Given the description of an element on the screen output the (x, y) to click on. 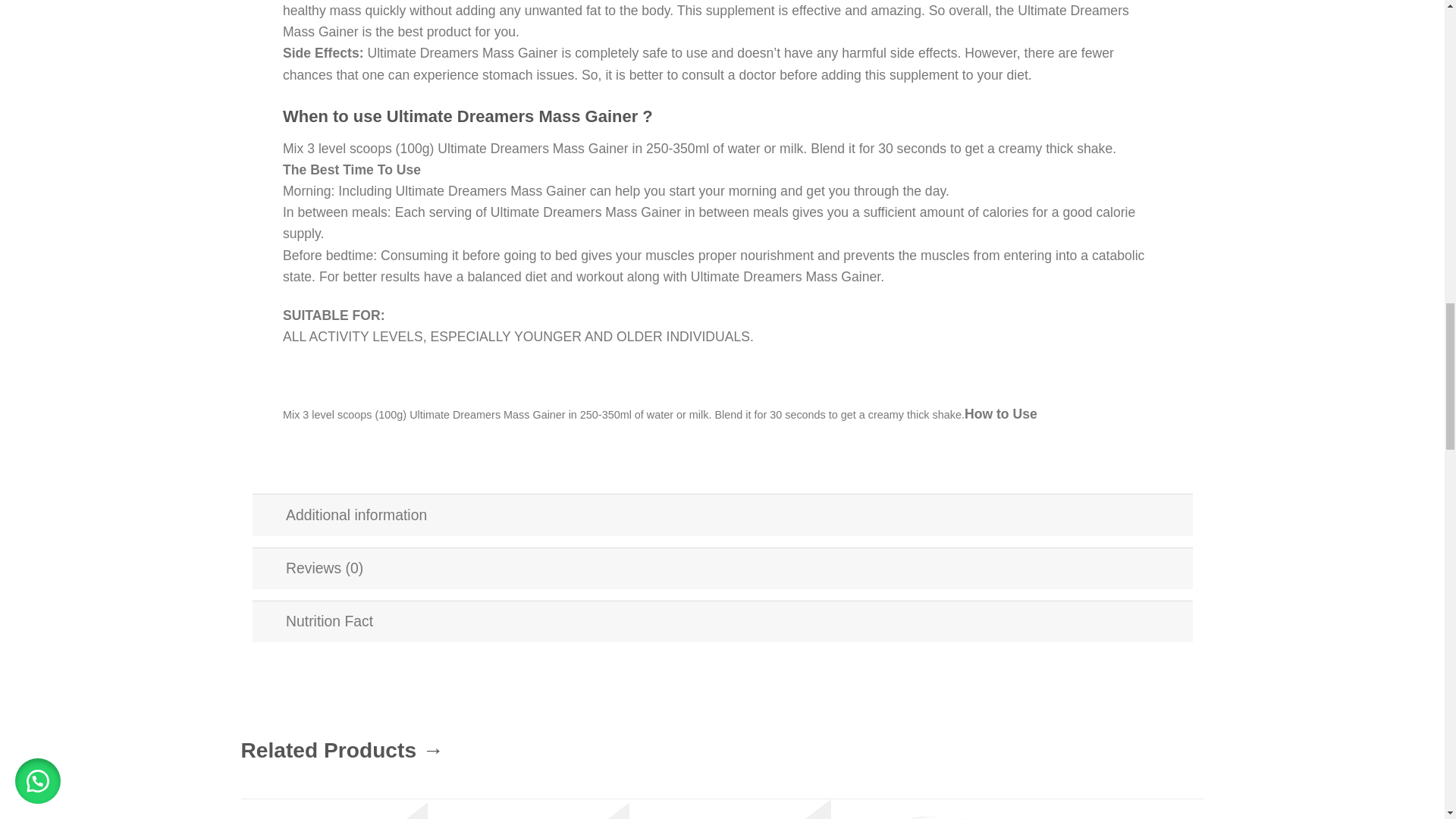
Additional information (721, 514)
